Given the description of an element on the screen output the (x, y) to click on. 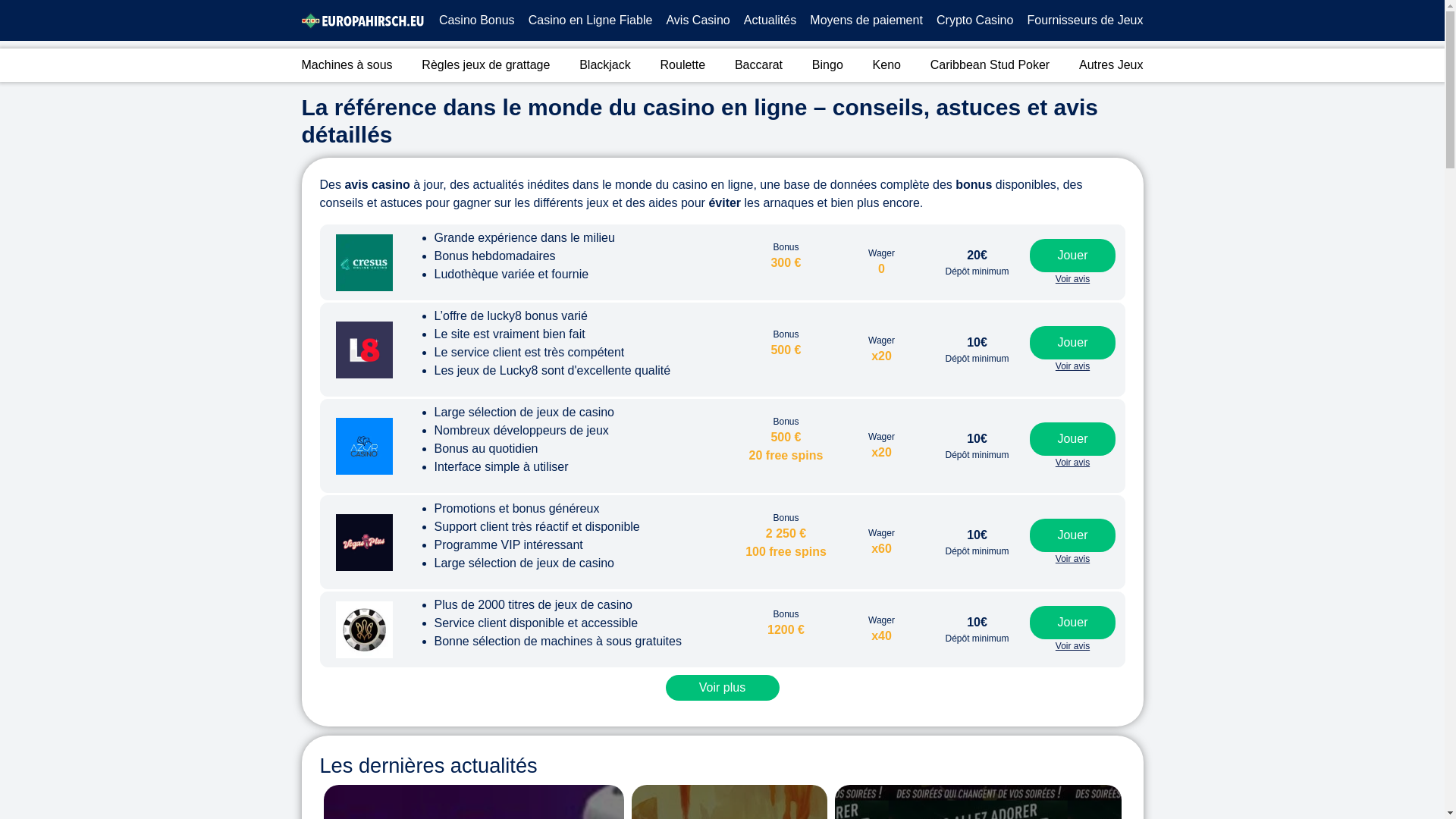
Casino en Ligne Fiable Element type: text (590, 19)
Jouer Element type: text (1072, 342)
Jouer Element type: text (1072, 438)
Blackjack Element type: text (604, 64)
Bateau Ecole Logo Element type: hover (362, 20)
Crypto Casino Element type: text (974, 19)
Voir avis Element type: text (1072, 462)
Baccarat Element type: text (758, 64)
Bingo Element type: text (827, 64)
Avis Casino Element type: text (697, 19)
Jouer Element type: text (1072, 622)
Jouer Element type: text (1072, 255)
Fournisseurs de Jeux Element type: text (1085, 19)
Voir avis Element type: text (1072, 278)
Casino Bonus Element type: text (476, 19)
Voir avis Element type: text (1072, 366)
Keno Element type: text (886, 64)
Roulette Element type: text (683, 64)
Jouer Element type: text (1072, 535)
Caribbean Stud Poker Element type: text (989, 64)
Voir plus Element type: text (722, 687)
Voir avis Element type: text (1072, 645)
Voir avis Element type: text (1072, 558)
Moyens de paiement Element type: text (865, 19)
Autres Jeux Element type: text (1110, 64)
